Given the description of an element on the screen output the (x, y) to click on. 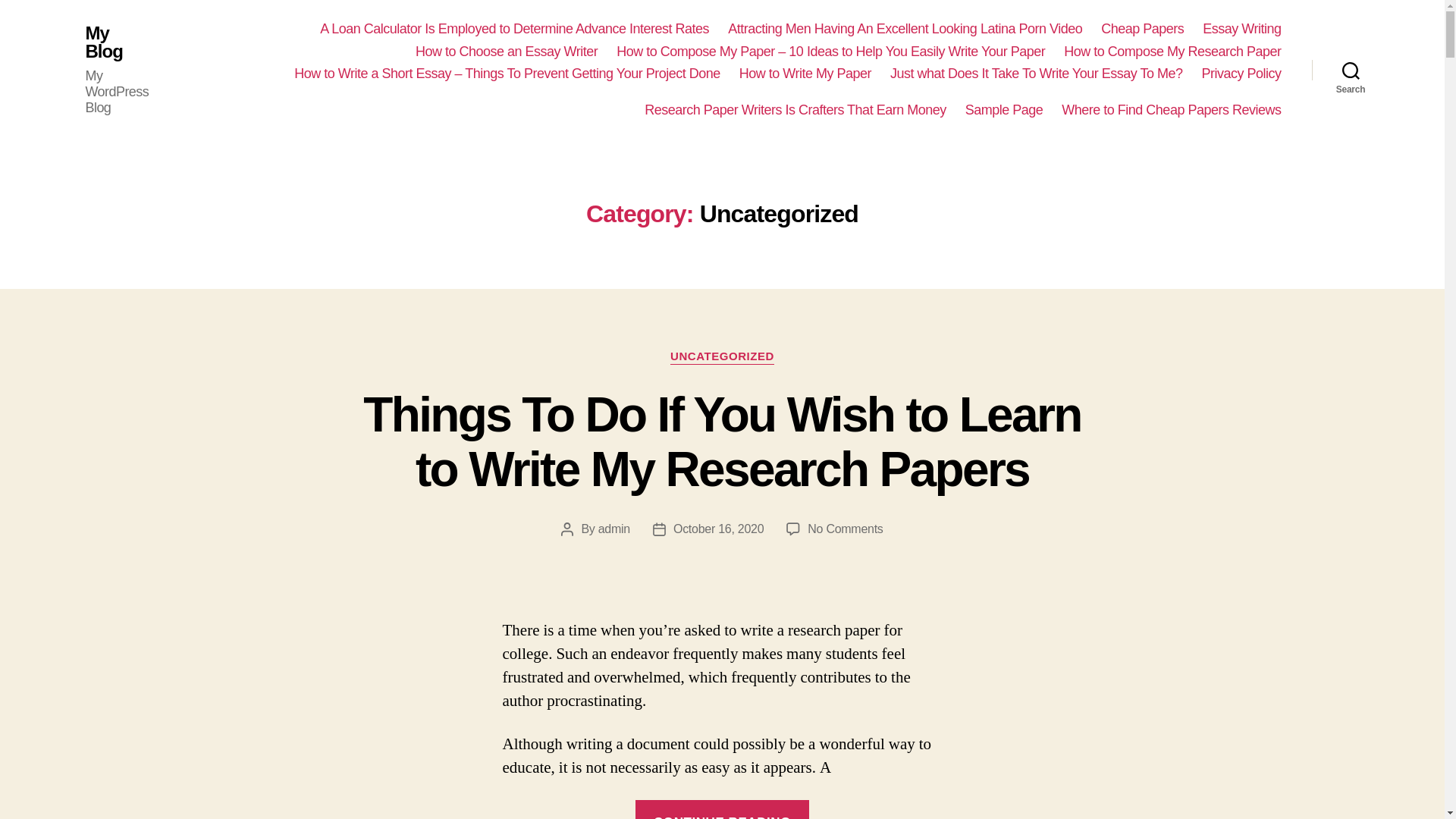
Essay Writing (1241, 29)
Cheap Papers (1141, 29)
How to Choose an Essay Writer (505, 52)
How to Compose My Research Paper (1172, 52)
Sample Page (1004, 110)
Privacy Policy (1241, 74)
Where to Find Cheap Papers Reviews (1171, 110)
How to Write My Paper (804, 74)
UNCATEGORIZED (721, 356)
Research Paper Writers Is Crafters That Earn Money (795, 110)
October 16, 2020 (717, 528)
My Blog (116, 42)
Just what Does It Take To Write Your Essay To Me? (1035, 74)
